Given the description of an element on the screen output the (x, y) to click on. 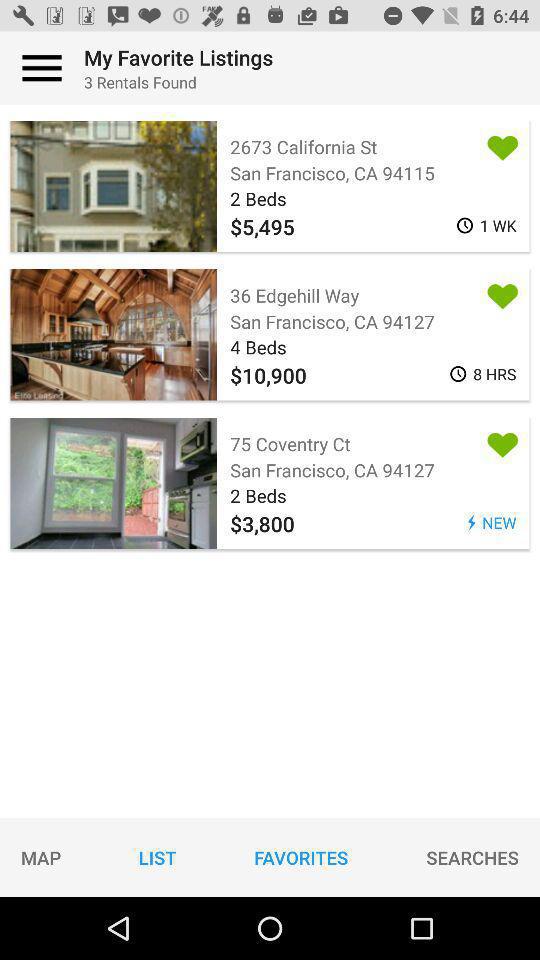
click on map (41, 856)
